Given the description of an element on the screen output the (x, y) to click on. 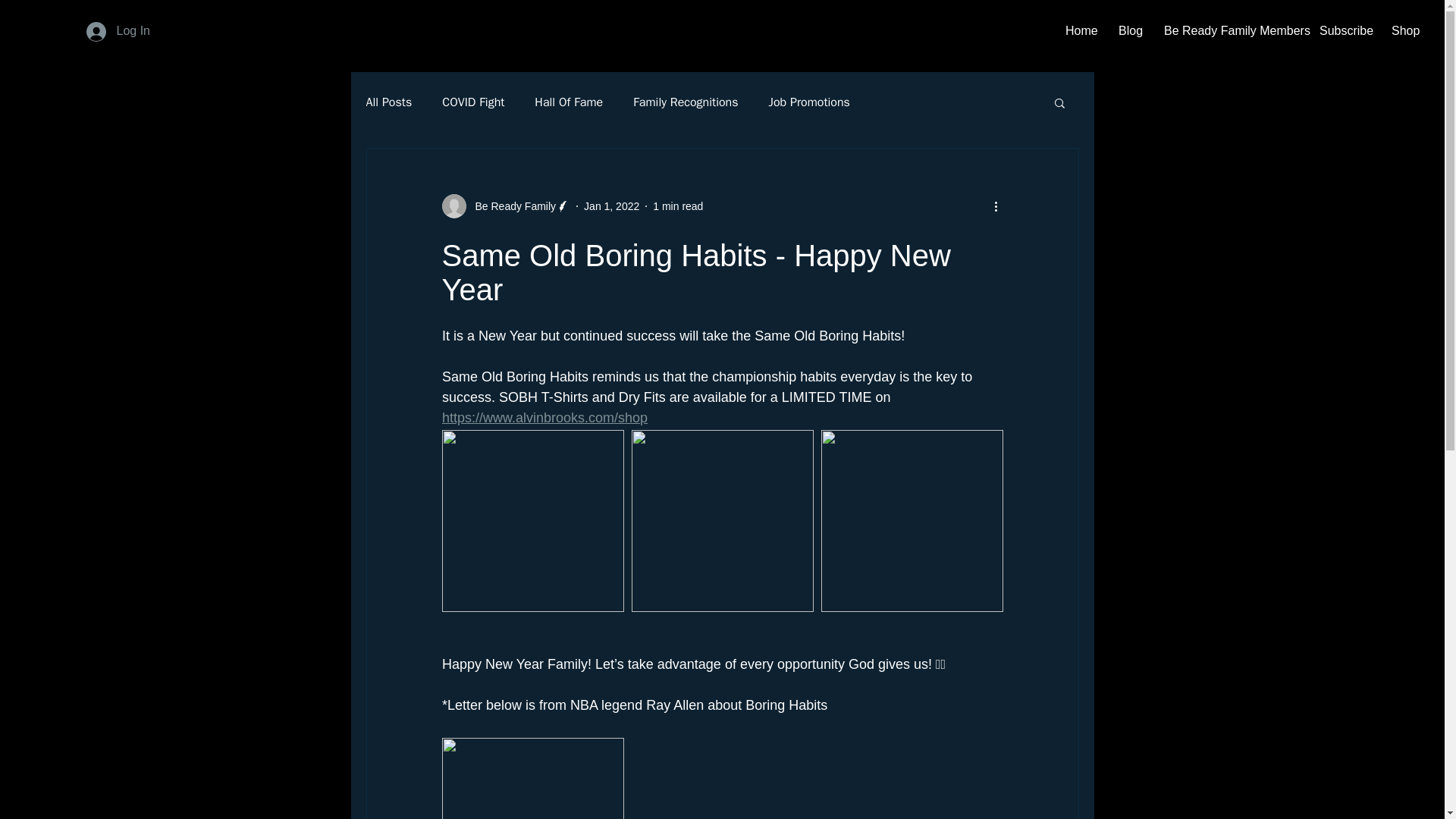
Family Recognitions (685, 101)
Hall Of Fame (568, 101)
COVID Fight (472, 101)
Jan 1, 2022 (611, 205)
All Posts (388, 101)
Subscribe (1343, 30)
Home (1080, 30)
Be Ready Family Members (1230, 30)
Blog (1129, 30)
Job Promotions (809, 101)
